Given the description of an element on the screen output the (x, y) to click on. 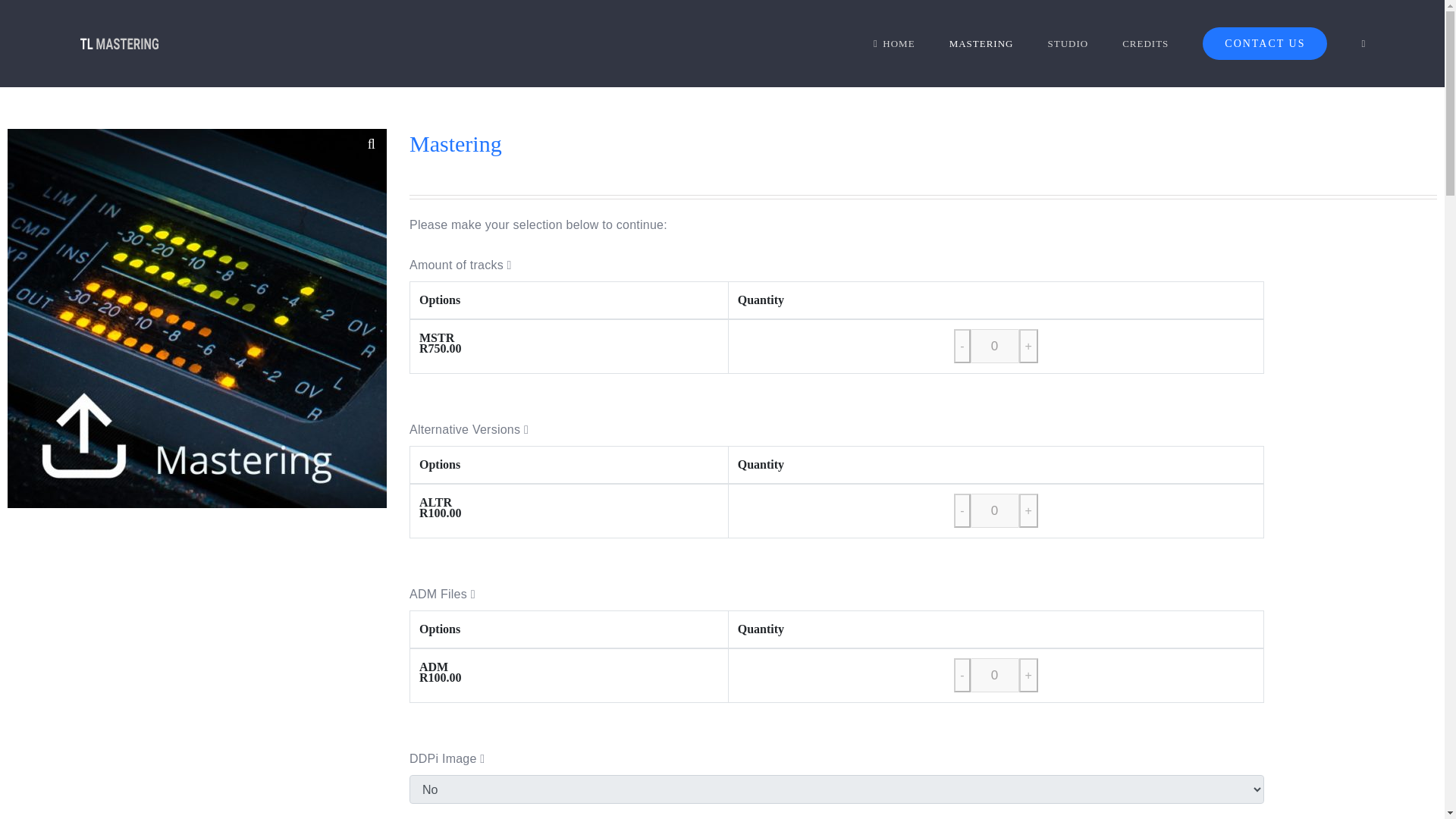
Contact Tim Lengfeld (1264, 42)
CONTACT US (1264, 42)
MASTERING (981, 42)
